Given the description of an element on the screen output the (x, y) to click on. 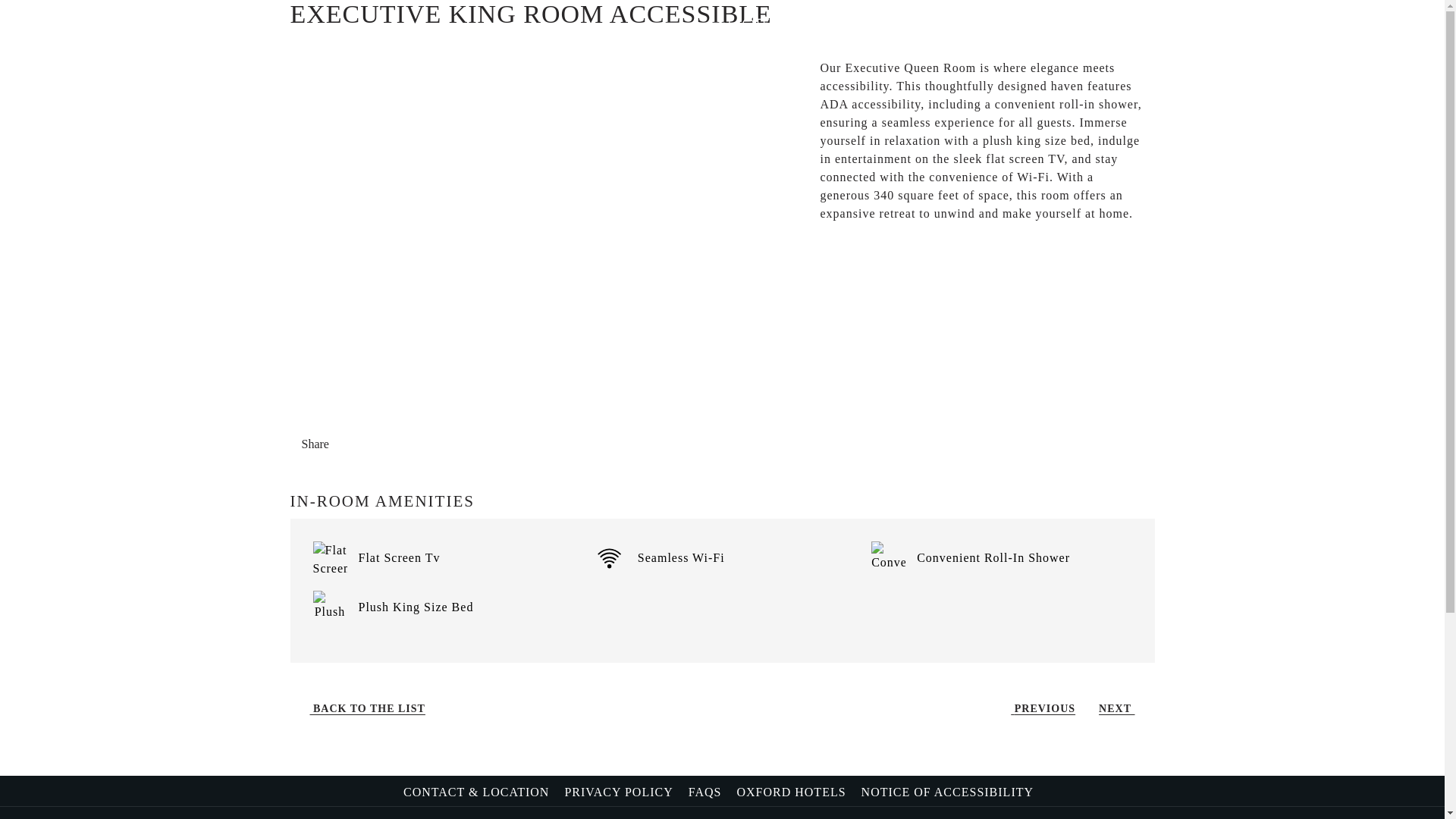
Back to the homepage (722, 36)
Share (328, 443)
BACK TO THE LIST (361, 708)
PREVIOUS (1037, 708)
NEXT (1121, 708)
